Given the description of an element on the screen output the (x, y) to click on. 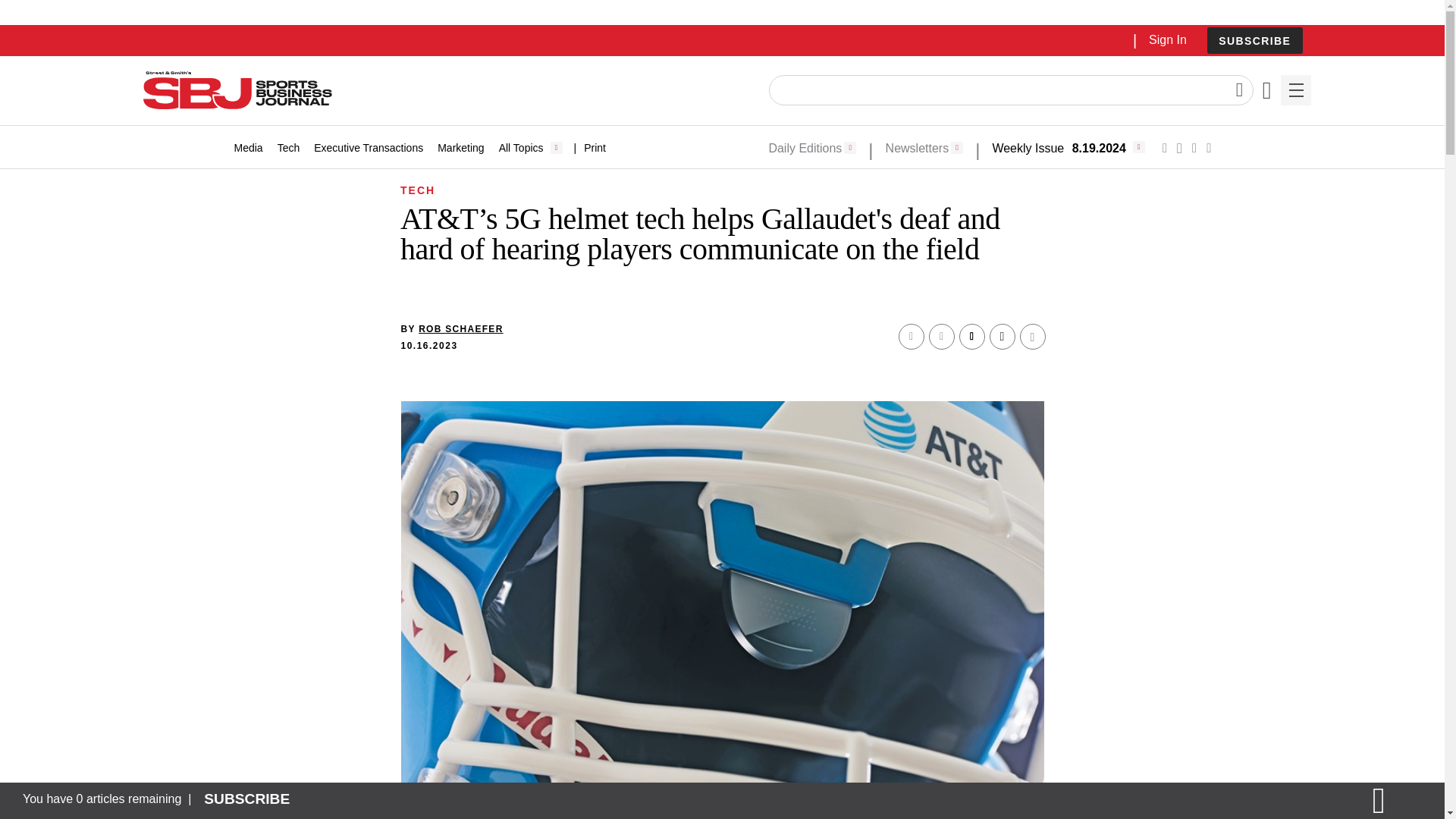
SUBSCRIBE (1254, 40)
SIGN IN (1194, 324)
Menu (1294, 90)
Sign In (1167, 40)
SUBSCRIBE (1255, 40)
